Given the description of an element on the screen output the (x, y) to click on. 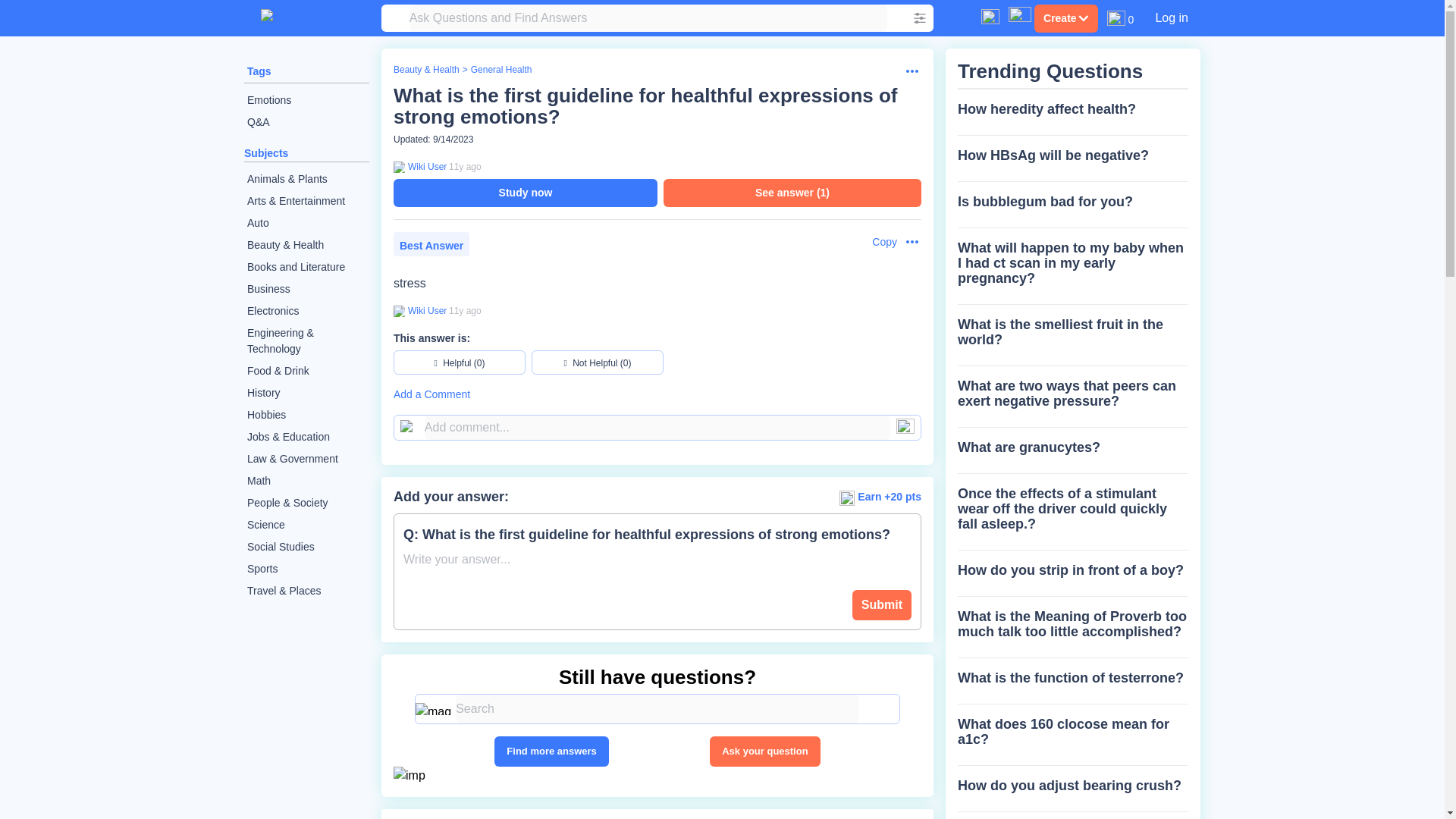
Hobbies (306, 414)
General Health (501, 69)
Business (306, 289)
Create (1065, 18)
Emotions (306, 100)
Copy (876, 242)
Social Studies (306, 546)
Science (306, 525)
Electronics (306, 311)
Add a Comment (657, 394)
Math (306, 481)
Log in (1170, 17)
Ask your question (764, 751)
Subjects (266, 152)
